Given the description of an element on the screen output the (x, y) to click on. 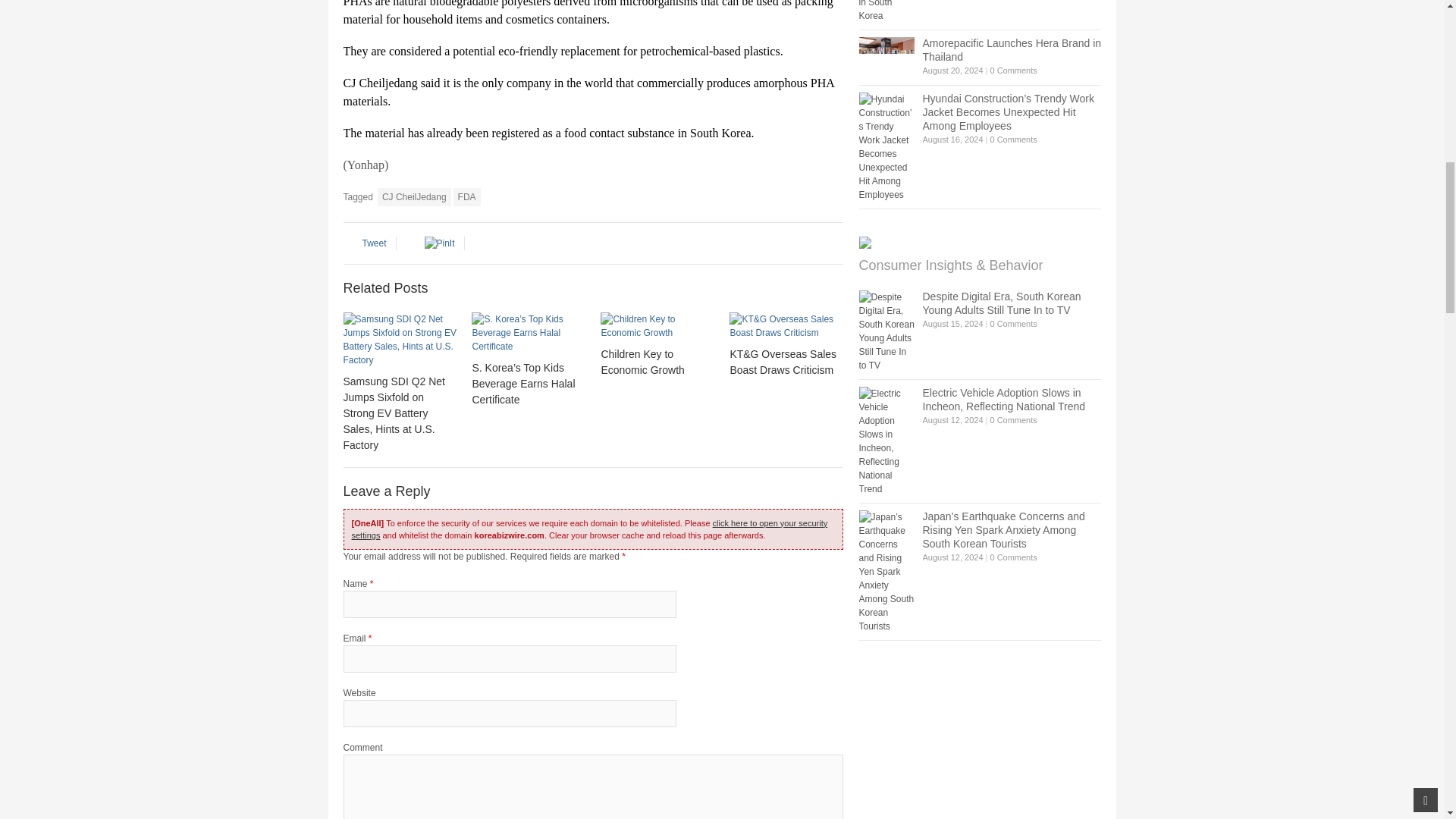
Children Key to Economic Growth (656, 325)
